Given the description of an element on the screen output the (x, y) to click on. 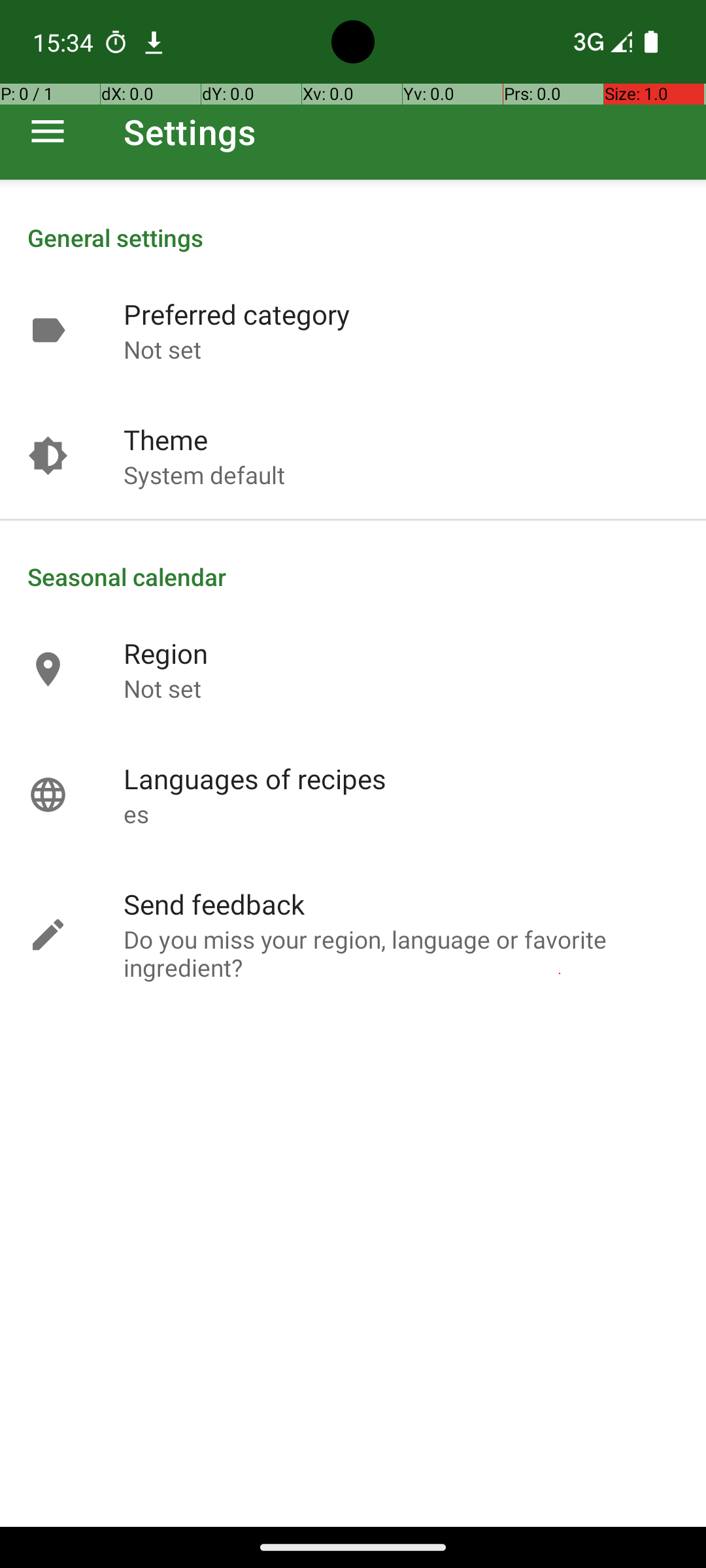
General settings Element type: android.widget.TextView (352, 237)
Preferred category Element type: android.widget.TextView (236, 313)
Not set Element type: android.widget.TextView (162, 348)
Region Element type: android.widget.TextView (165, 652)
Languages of recipes Element type: android.widget.TextView (254, 778)
es Element type: android.widget.TextView (136, 813)
Do you miss your region, language or favorite ingredient? Element type: android.widget.TextView (400, 952)
